Given the description of an element on the screen output the (x, y) to click on. 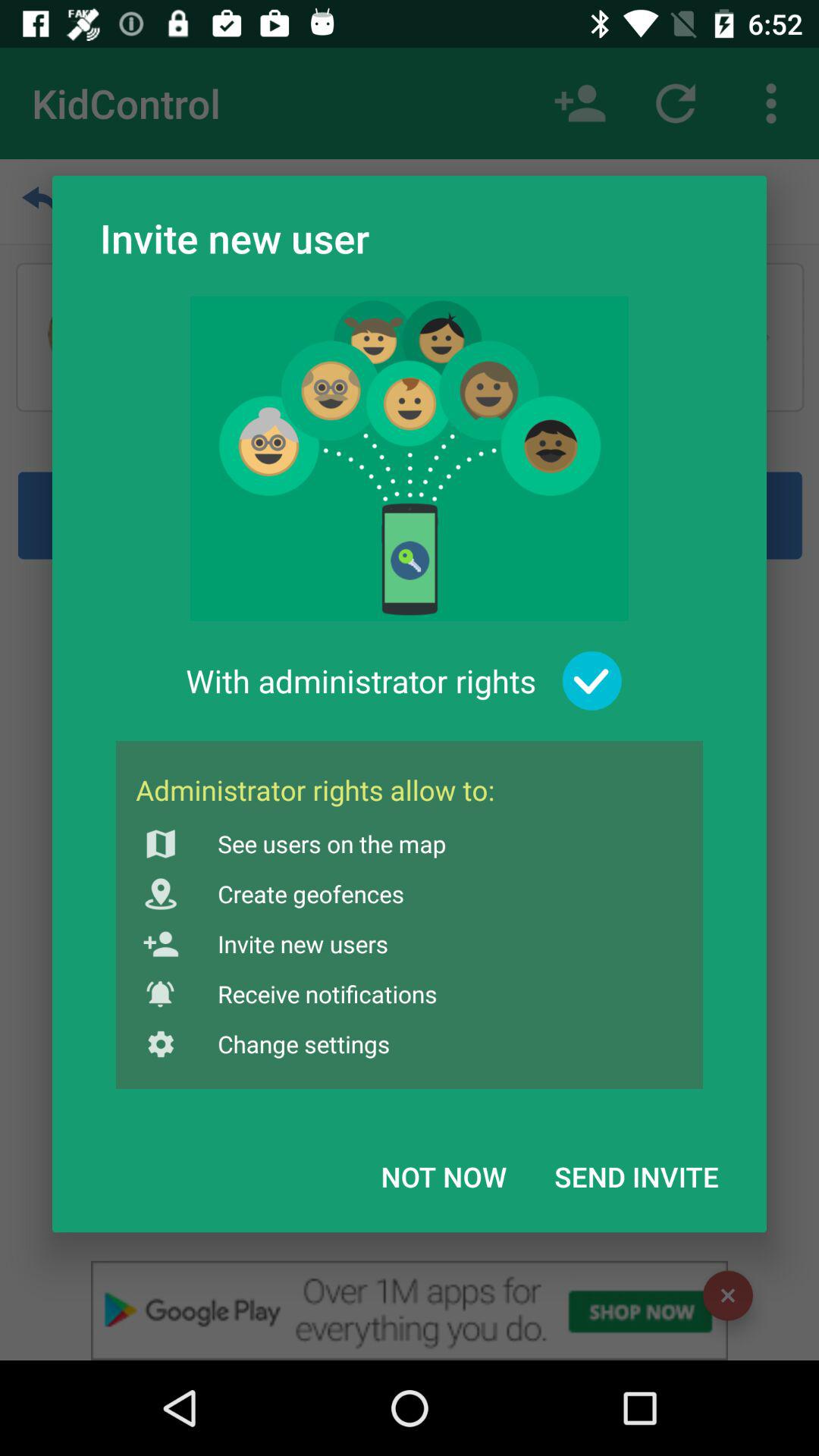
click not now icon (443, 1176)
